Given the description of an element on the screen output the (x, y) to click on. 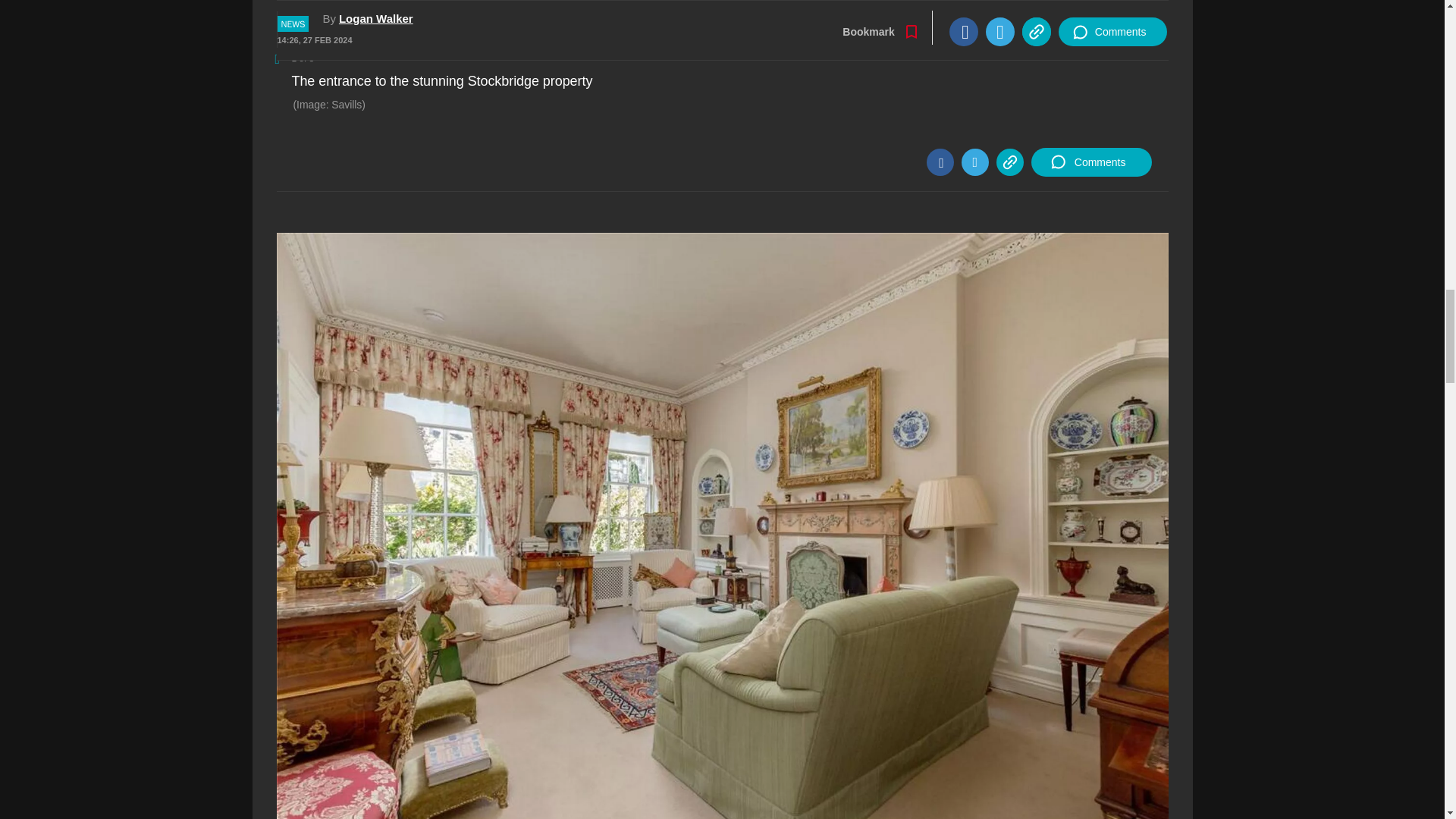
Twitter (974, 162)
Comments (1090, 162)
Facebook (939, 162)
